Given the description of an element on the screen output the (x, y) to click on. 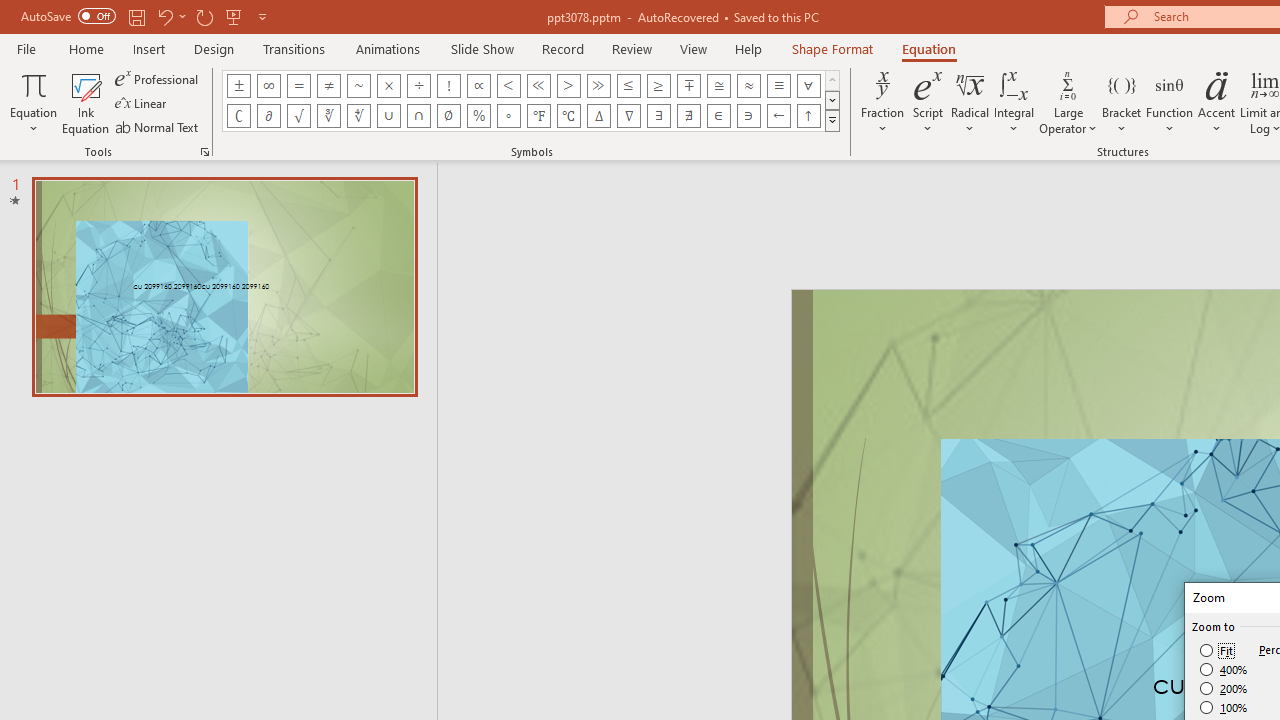
Fraction (882, 102)
Equation Symbol Left Arrow (778, 115)
Equation Symbol Fourth Root (358, 115)
Equation (928, 48)
Fit (1217, 650)
Equation Symbol Much Greater Than (598, 85)
Function (1169, 102)
Equation Symbol Almost Equal To (Asymptotic To) (748, 85)
Equation Symbol Degrees (508, 115)
Equation Symbol Cube Root (328, 115)
